Given the description of an element on the screen output the (x, y) to click on. 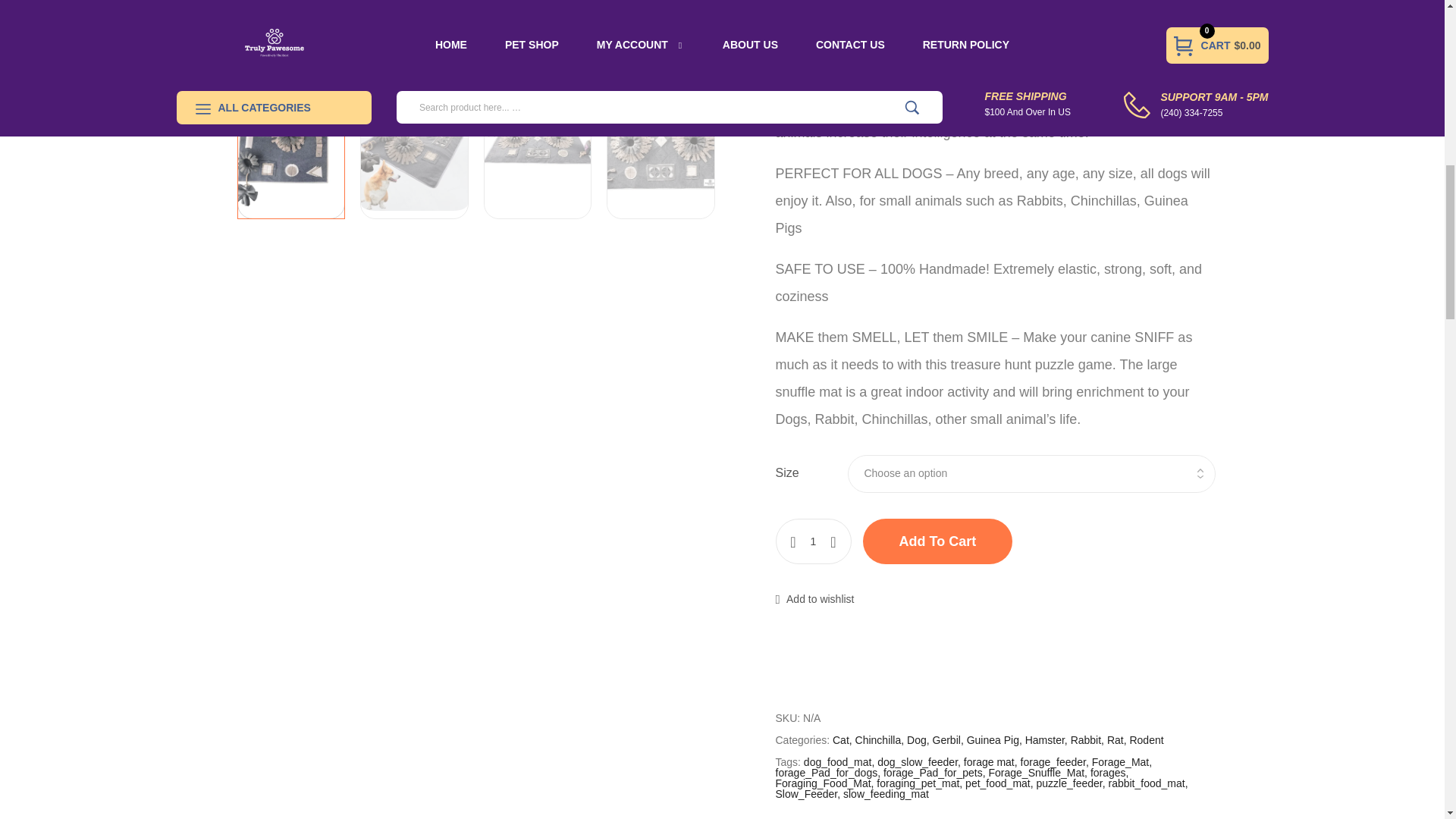
Add to wishlist (813, 599)
PayPal (994, 654)
